Given the description of an element on the screen output the (x, y) to click on. 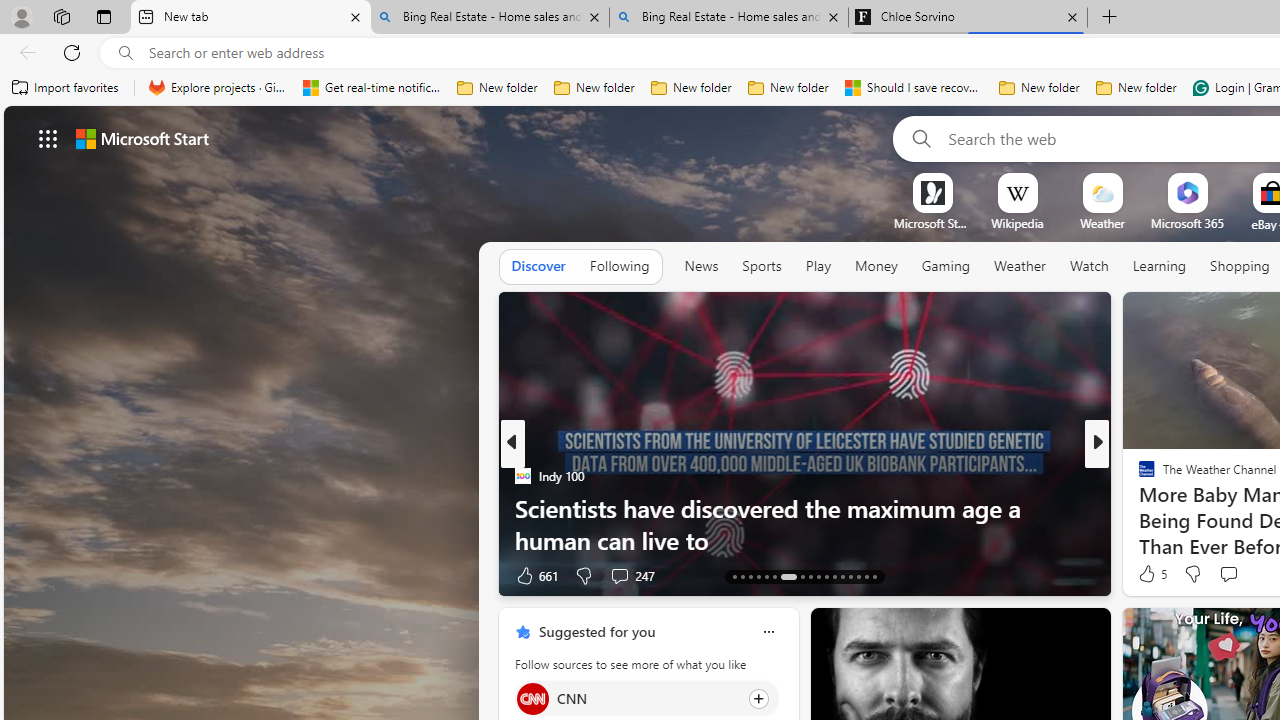
View comments 2 Comment (1234, 574)
Import favorites (65, 88)
AutomationID: tab-22 (818, 576)
Learning (1159, 267)
ETNT Mind+Body (1138, 475)
View comments 247 Comment (632, 574)
View comments 1 Comment (1229, 575)
AutomationID: tab-24 (833, 576)
SlashGear (1138, 475)
View comments 19 Comment (1234, 575)
AutomationID: tab-21 (810, 576)
Weather (1019, 267)
Play (818, 267)
Nordace.com (1165, 507)
661 Like (535, 574)
